Given the description of an element on the screen output the (x, y) to click on. 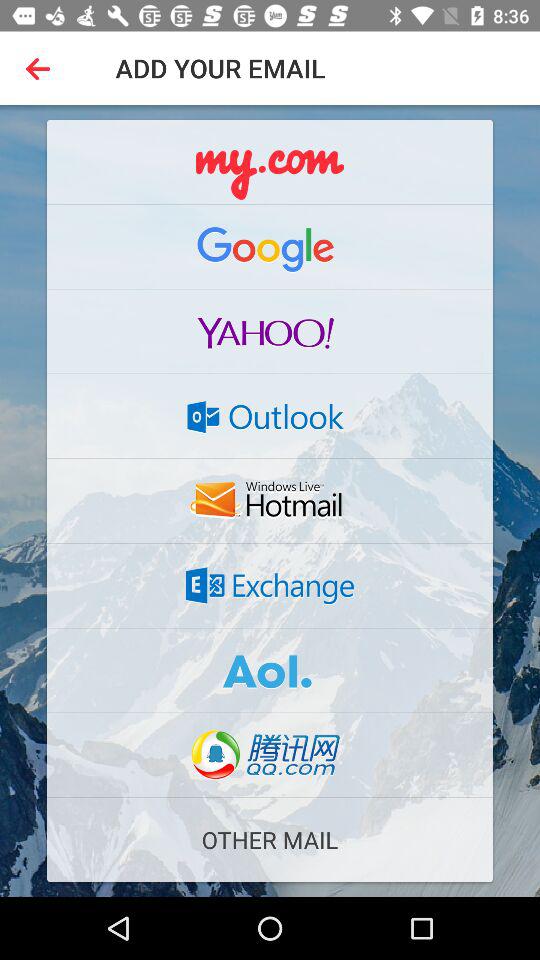
my.com email (269, 162)
